Given the description of an element on the screen output the (x, y) to click on. 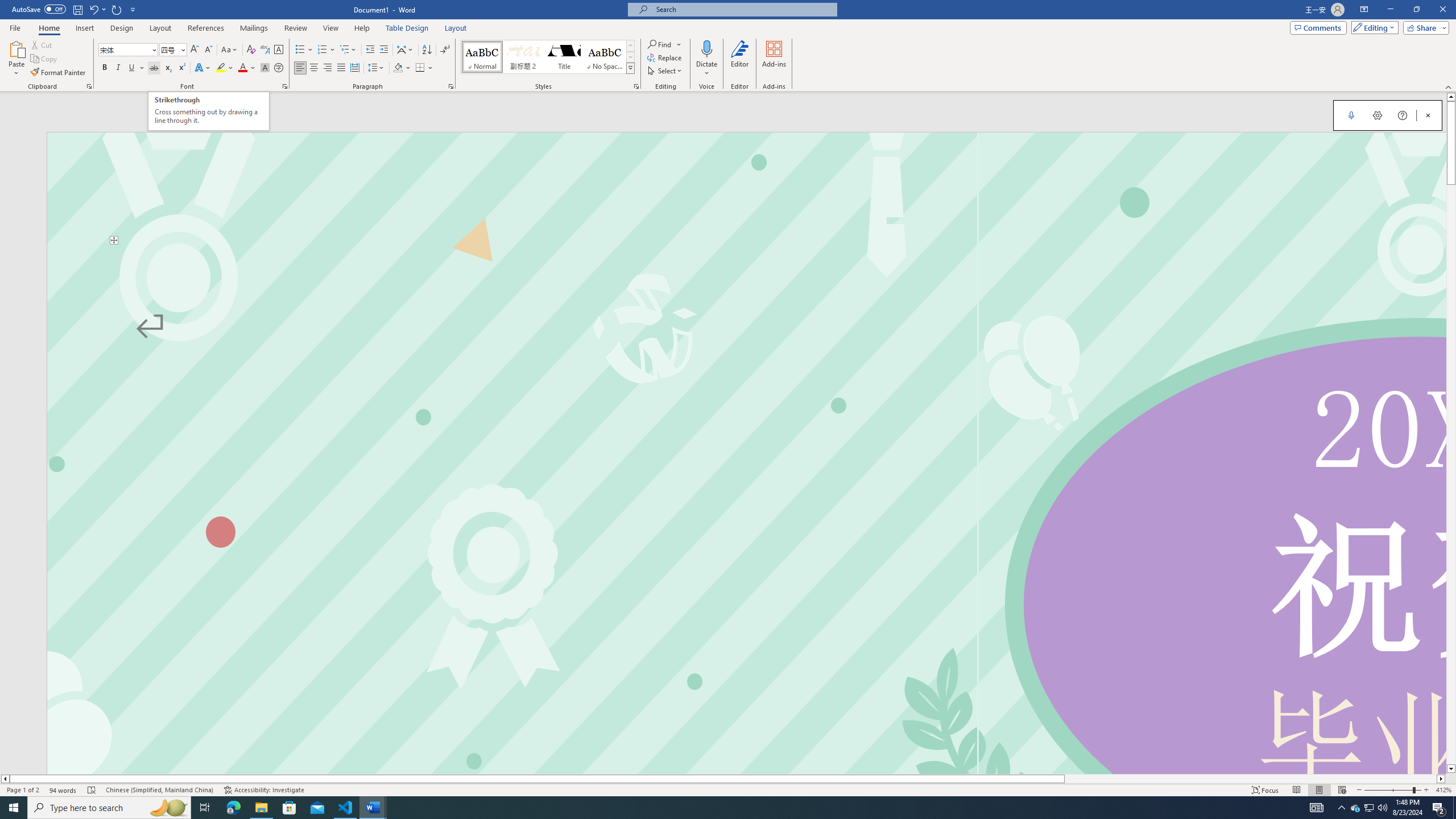
Undo Text Fill Effect (96, 9)
Line down (1450, 768)
Page right (1250, 778)
